Given the description of an element on the screen output the (x, y) to click on. 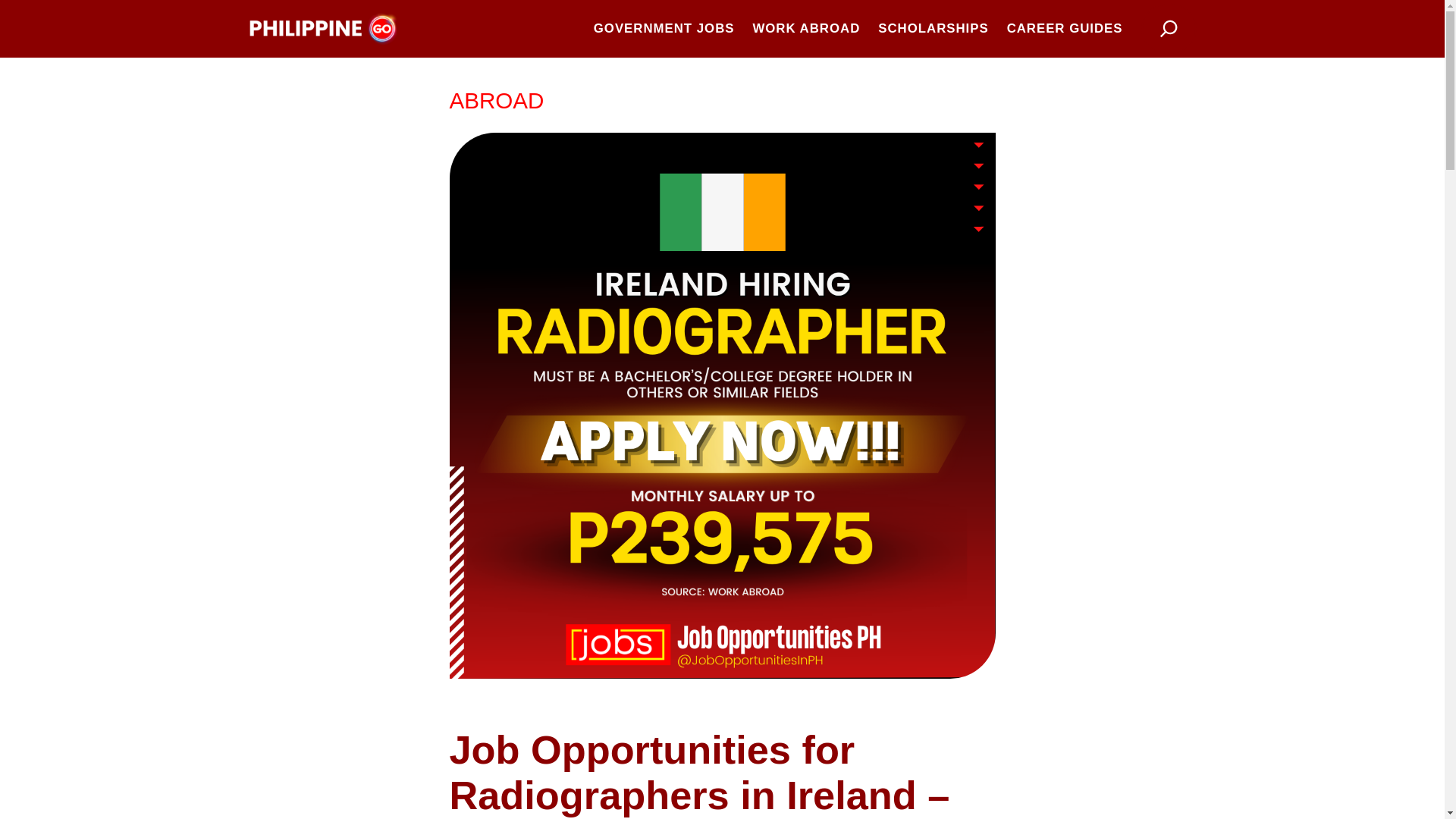
GOVERNMENT JOBS (664, 28)
WORK ABROAD (806, 28)
ABROAD (495, 100)
SCHOLARSHIPS (932, 28)
CAREER GUIDES (1064, 28)
